Given the description of an element on the screen output the (x, y) to click on. 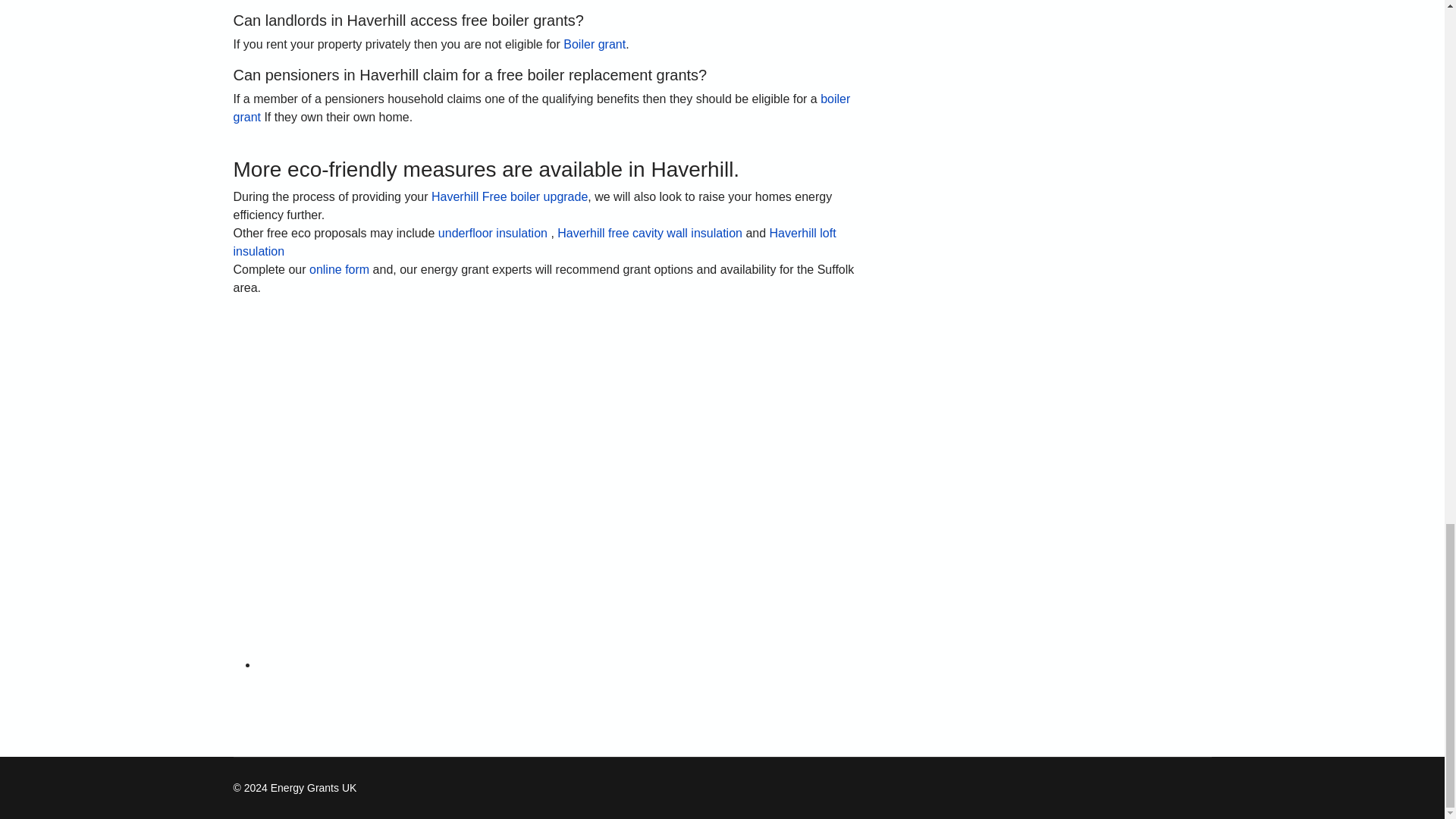
online form (338, 269)
Haverhill free cavity wall insulation (649, 232)
boiler grant (541, 107)
Haverhill loft insulation (533, 241)
Haverhill Free boiler upgrade (509, 196)
underfloor insulation (492, 232)
Boiler grant (594, 43)
